Given the description of an element on the screen output the (x, y) to click on. 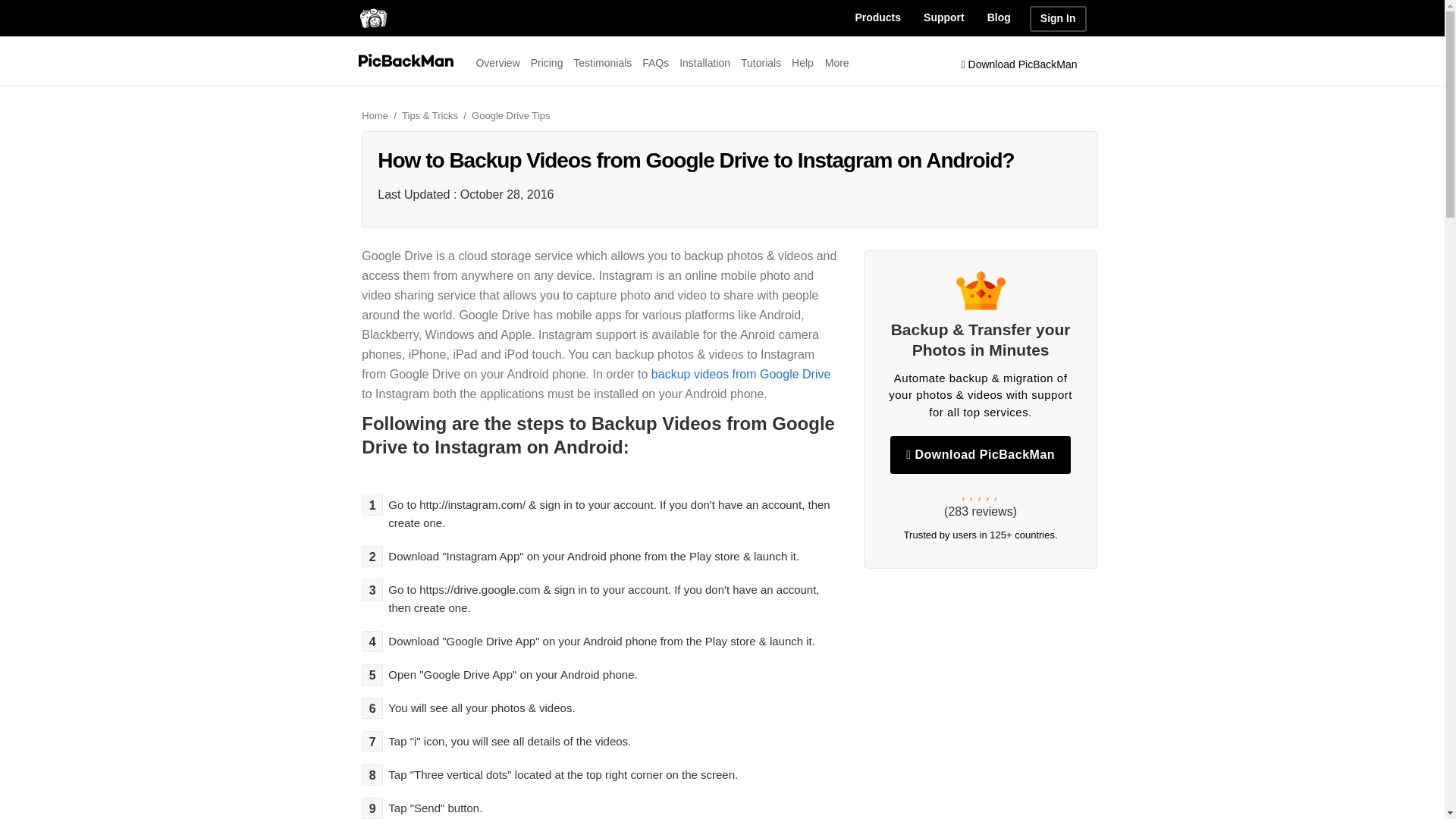
Pricing (547, 62)
Products (877, 18)
Sign In (1057, 18)
Google Drive Tips (510, 115)
Home (379, 115)
Installation (704, 62)
Blog (998, 18)
Help (802, 62)
PicBackMan (372, 17)
Pricing (547, 62)
